Given the description of an element on the screen output the (x, y) to click on. 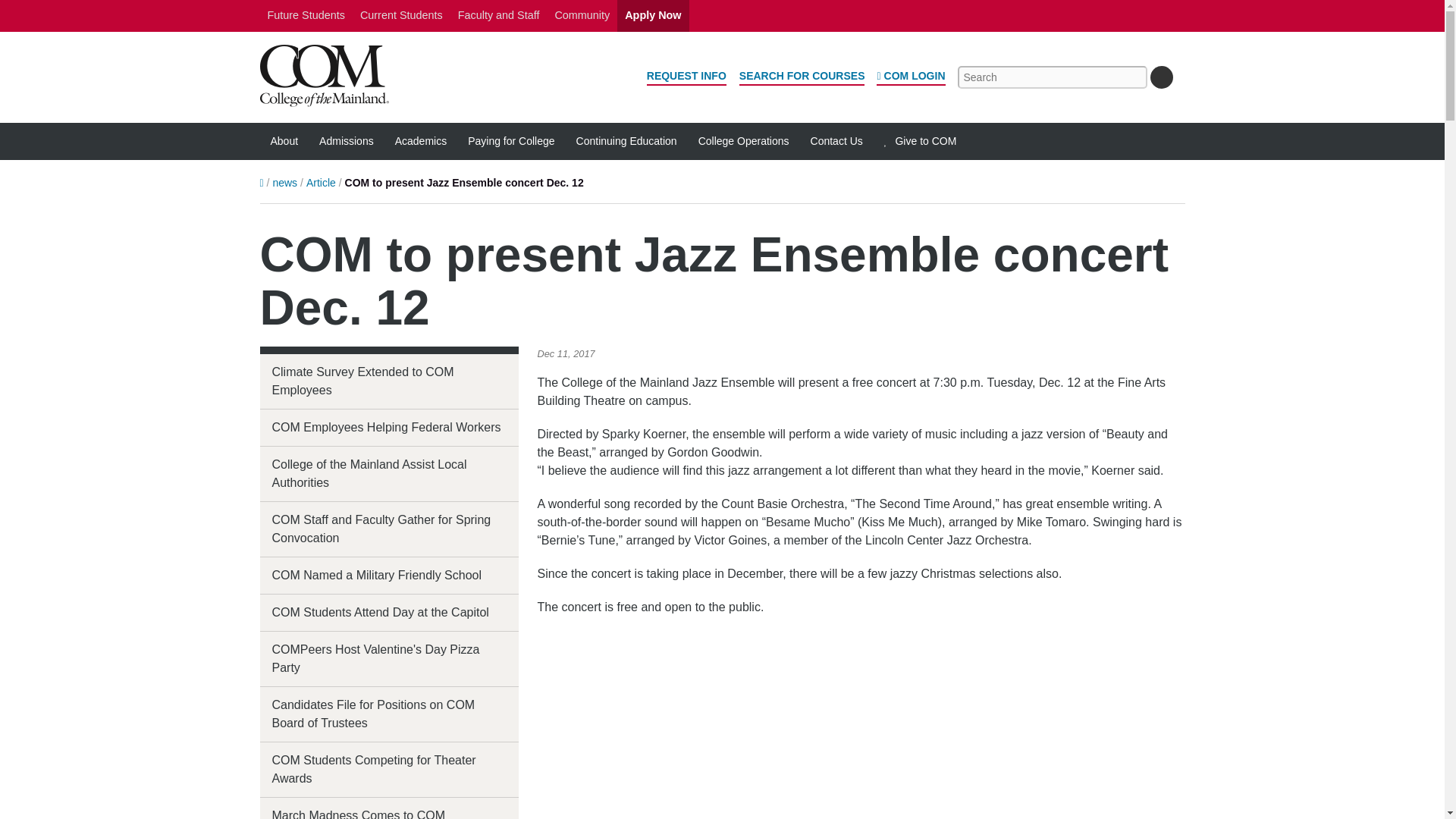
Search (1161, 77)
COM LOGIN (910, 76)
Apply Now (652, 15)
About (283, 140)
REQUEST INFO (686, 76)
Admissions (346, 140)
Search (1161, 77)
Search (1161, 77)
Faculty and Staff (498, 15)
Current Students (400, 15)
